Given the description of an element on the screen output the (x, y) to click on. 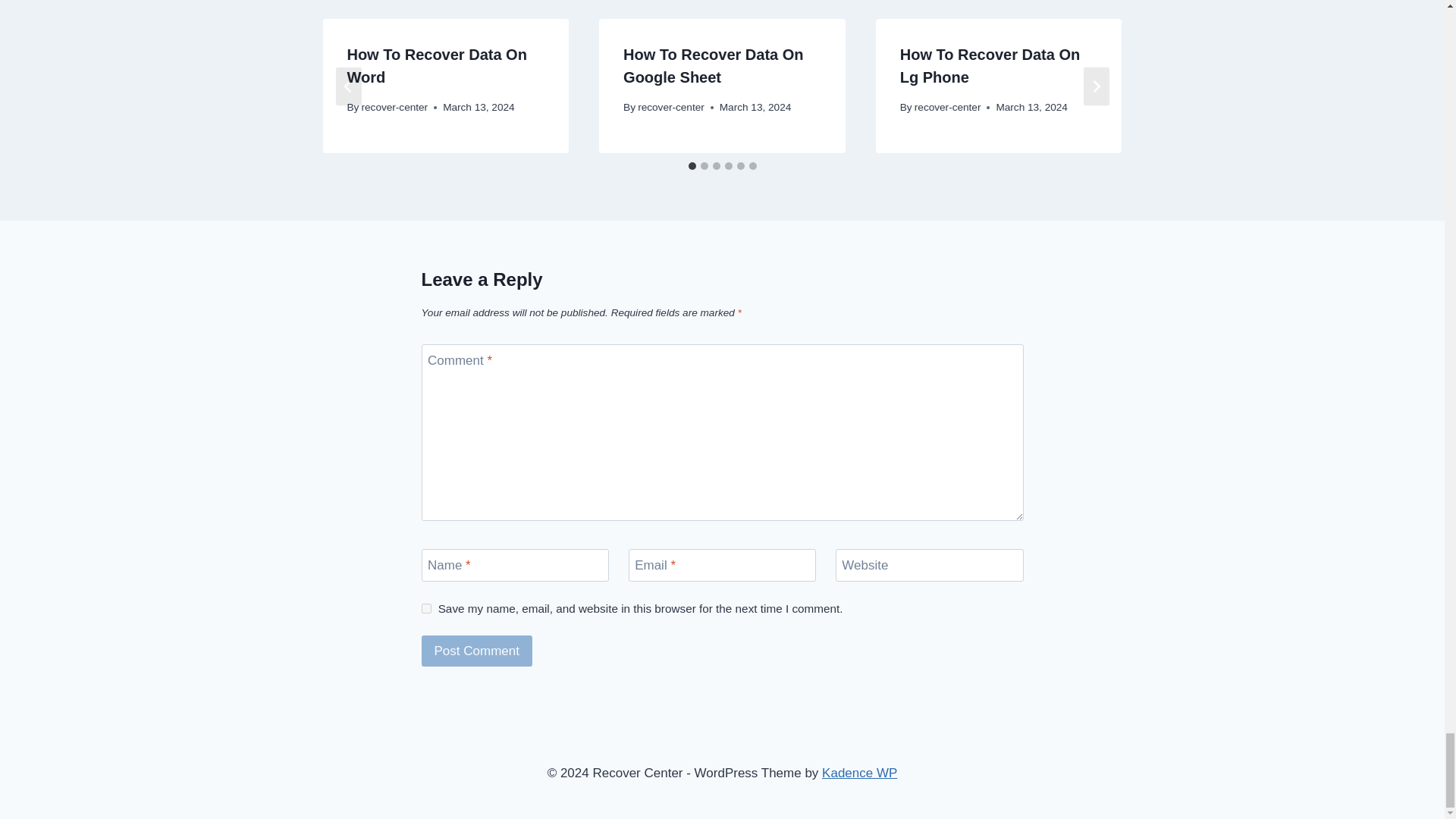
How To Recover Data On Word (435, 65)
Post Comment (477, 650)
How To Recover Data On Google Sheet (713, 65)
recover-center (394, 107)
yes (426, 608)
